Given the description of an element on the screen output the (x, y) to click on. 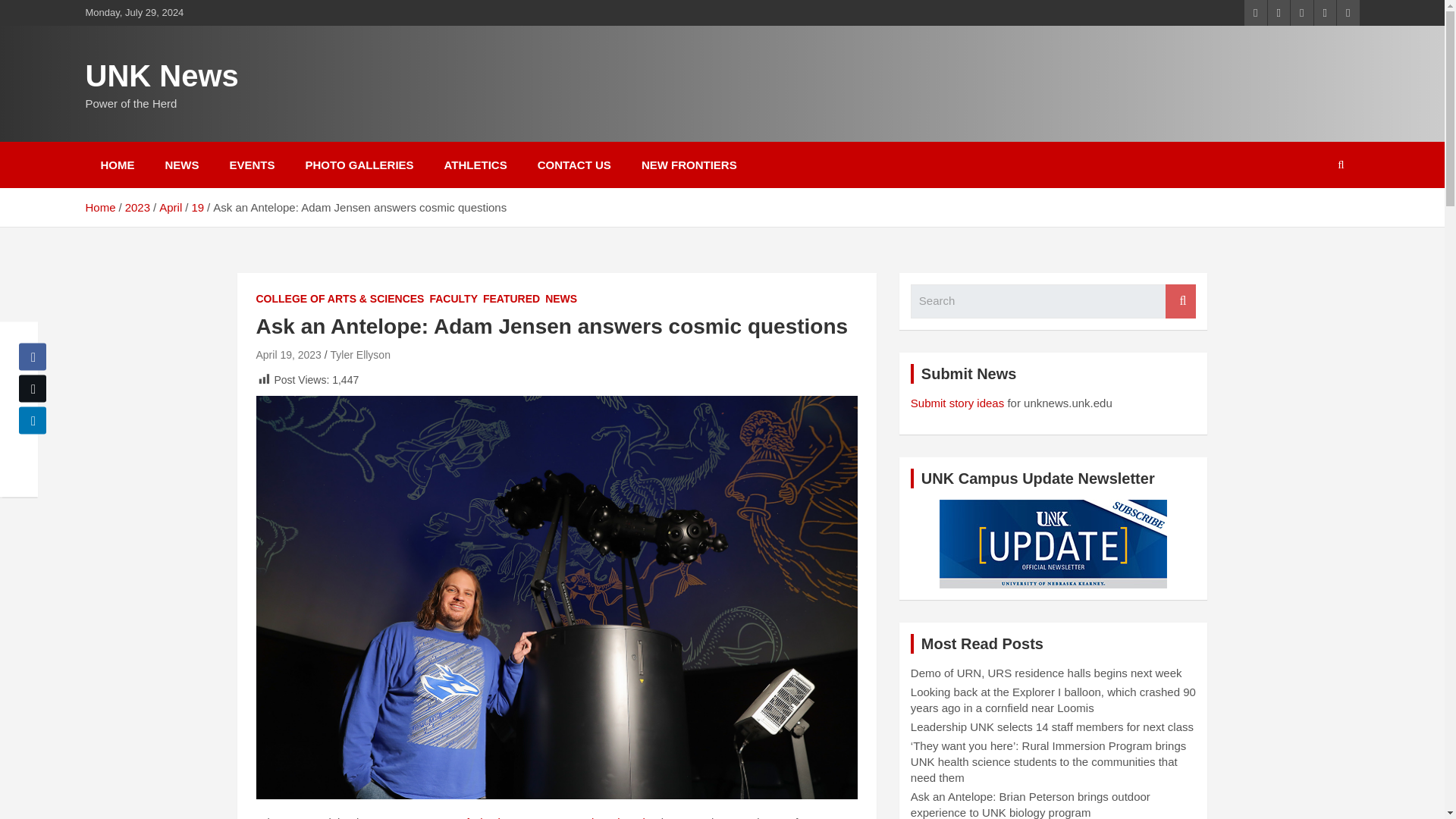
2023 (137, 206)
April 19, 2023 (288, 354)
Leadership UNK selects 14 staff members for next class (1052, 726)
Ask an Antelope: Adam Jensen answers cosmic questions (288, 354)
Home (99, 206)
19 (196, 206)
Demo of URN, URS residence halls begins next week (1046, 672)
CONTACT US (574, 164)
ATHLETICS (475, 164)
NEW FRONTIERS (689, 164)
Tyler Ellyson (360, 354)
FACULTY (453, 299)
April (170, 206)
UNK News (161, 75)
